Given the description of an element on the screen output the (x, y) to click on. 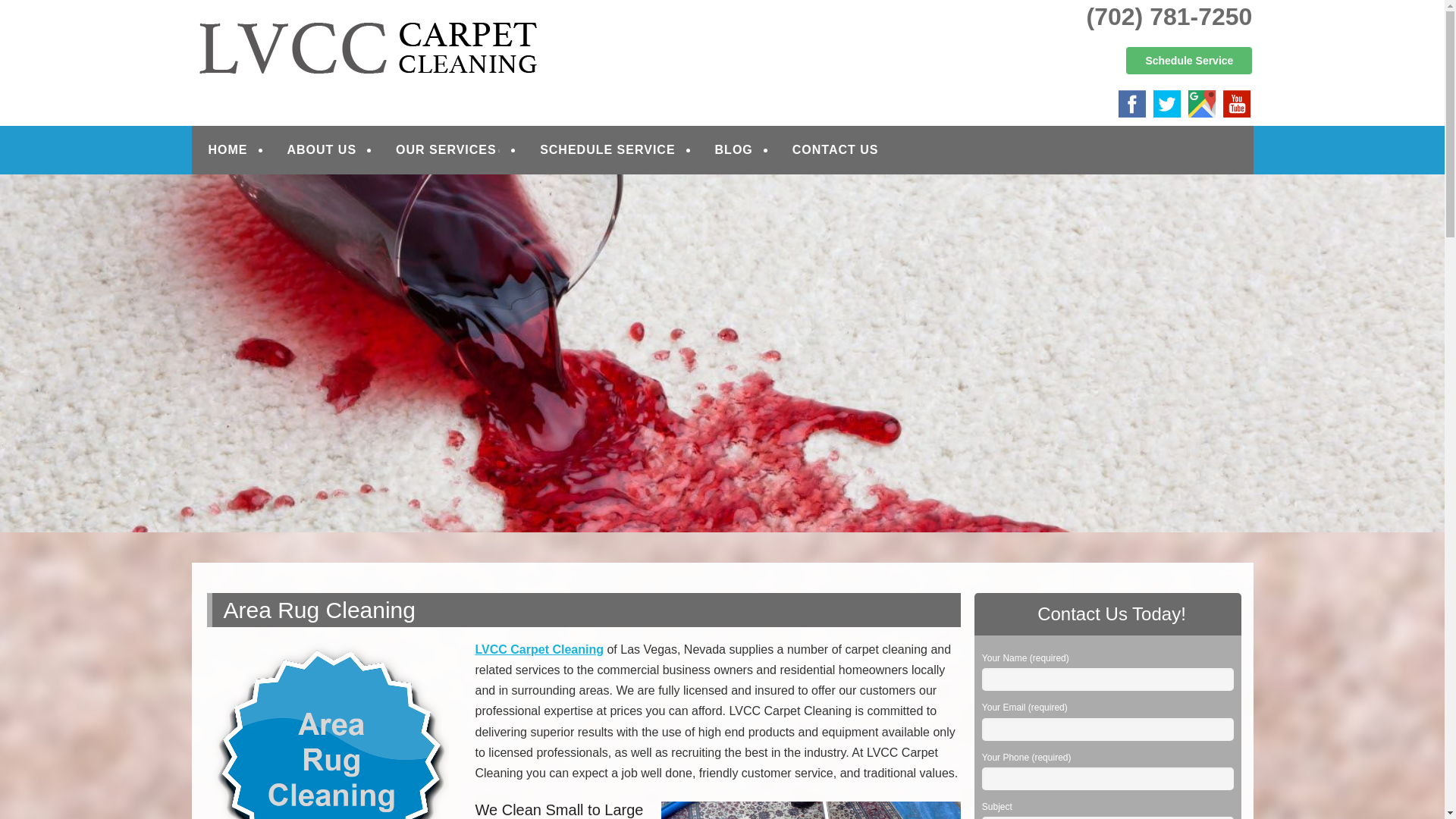
HOME (227, 150)
ABOUT US (321, 150)
CONTACT US (835, 150)
LVCC Carpet Cleaning (539, 649)
SCHEDULE SERVICE (607, 150)
LVCC CARPET CLEANING (376, 32)
Schedule Service (1188, 60)
BLOG (733, 150)
OUR SERVICES (448, 150)
LVCC Carpet Cleaning (376, 32)
